Given the description of an element on the screen output the (x, y) to click on. 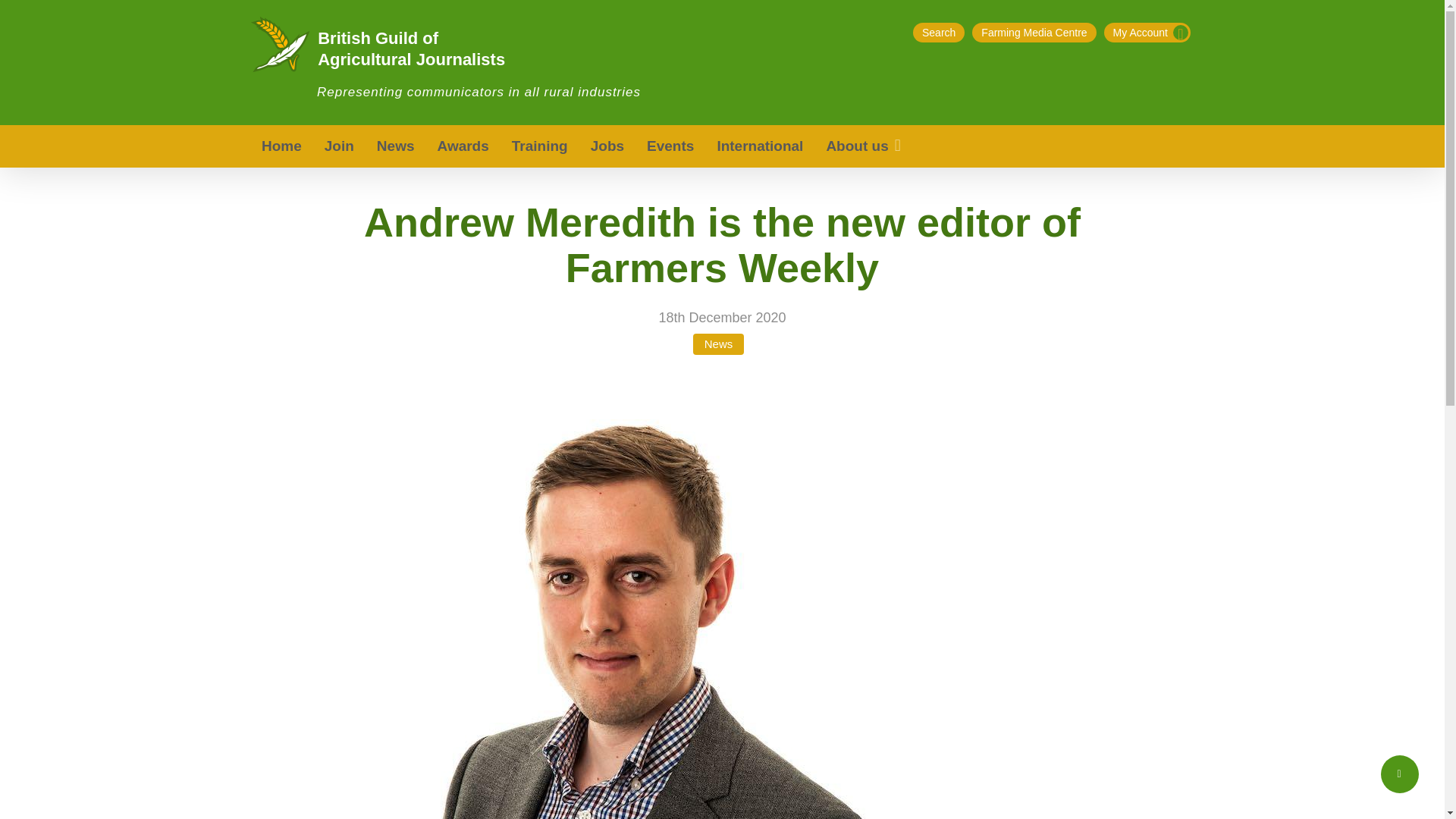
My Account (1147, 32)
About us (863, 146)
Join (339, 146)
News (395, 146)
Training (539, 146)
Events (669, 146)
International (758, 146)
Farming Media Centre (1034, 32)
News (718, 343)
Awards (463, 146)
Search (937, 32)
Home (281, 146)
Jobs (606, 146)
